Given the description of an element on the screen output the (x, y) to click on. 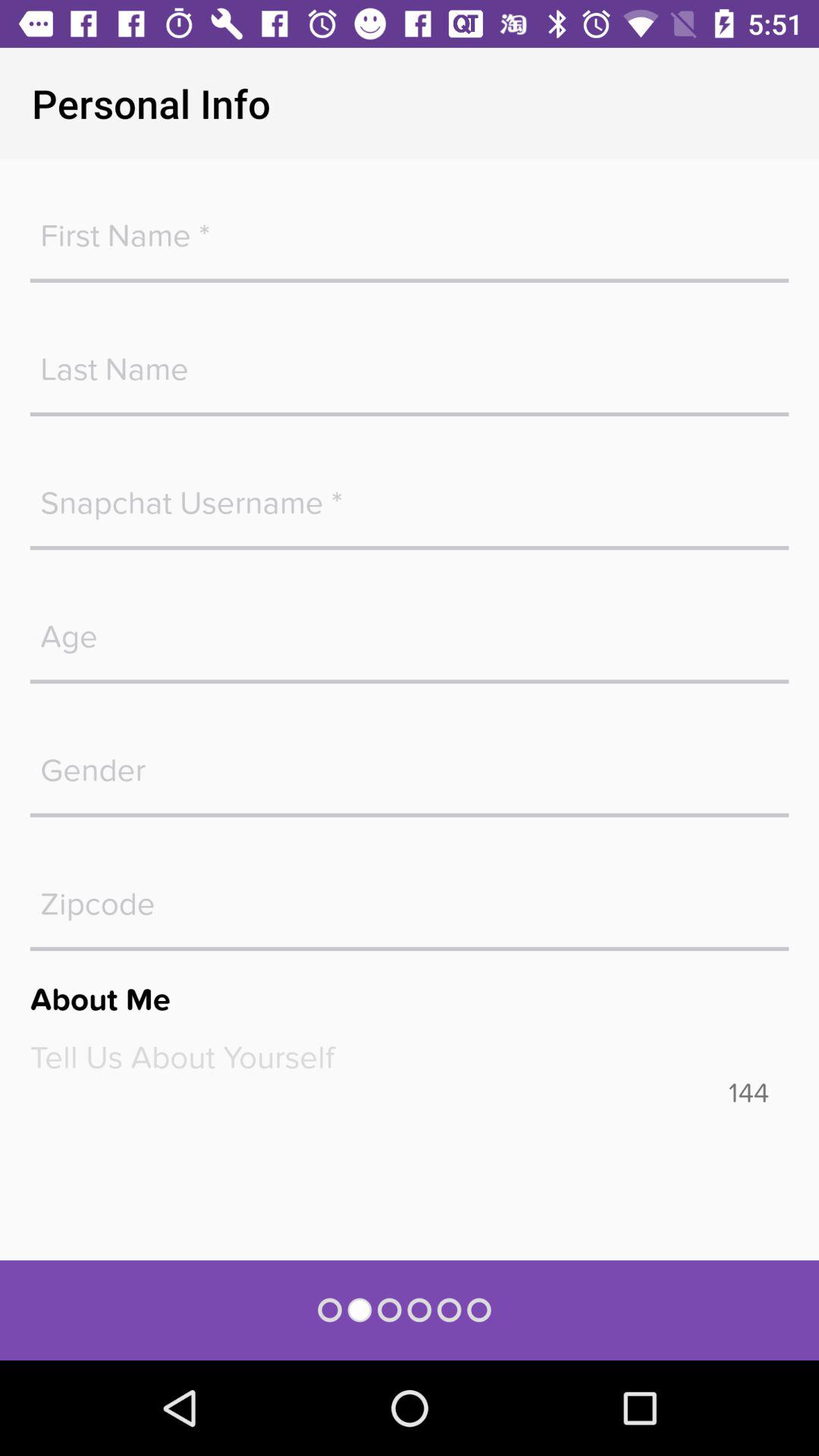
last name fillup button (409, 361)
